Given the description of an element on the screen output the (x, y) to click on. 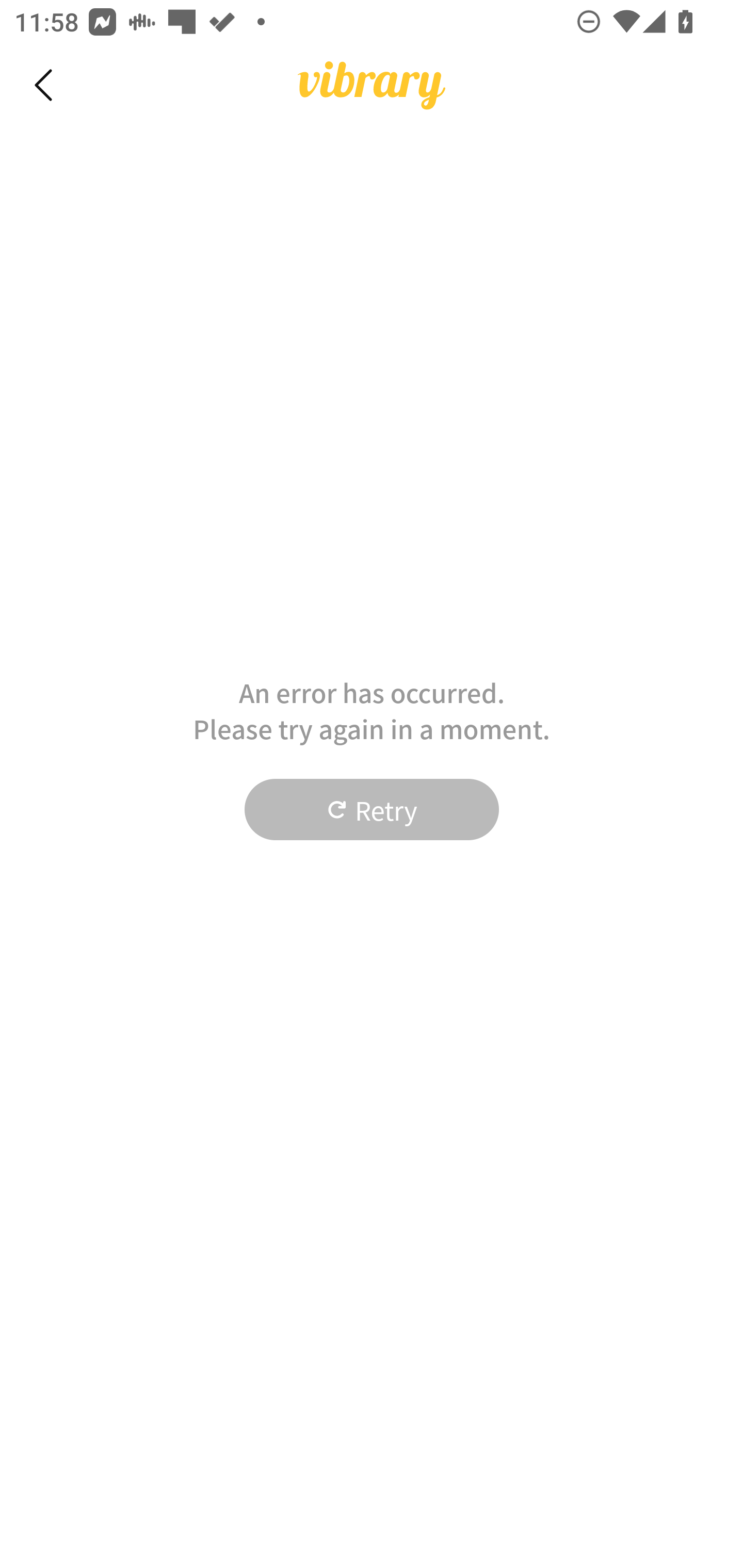
Retry (371, 809)
